Given the description of an element on the screen output the (x, y) to click on. 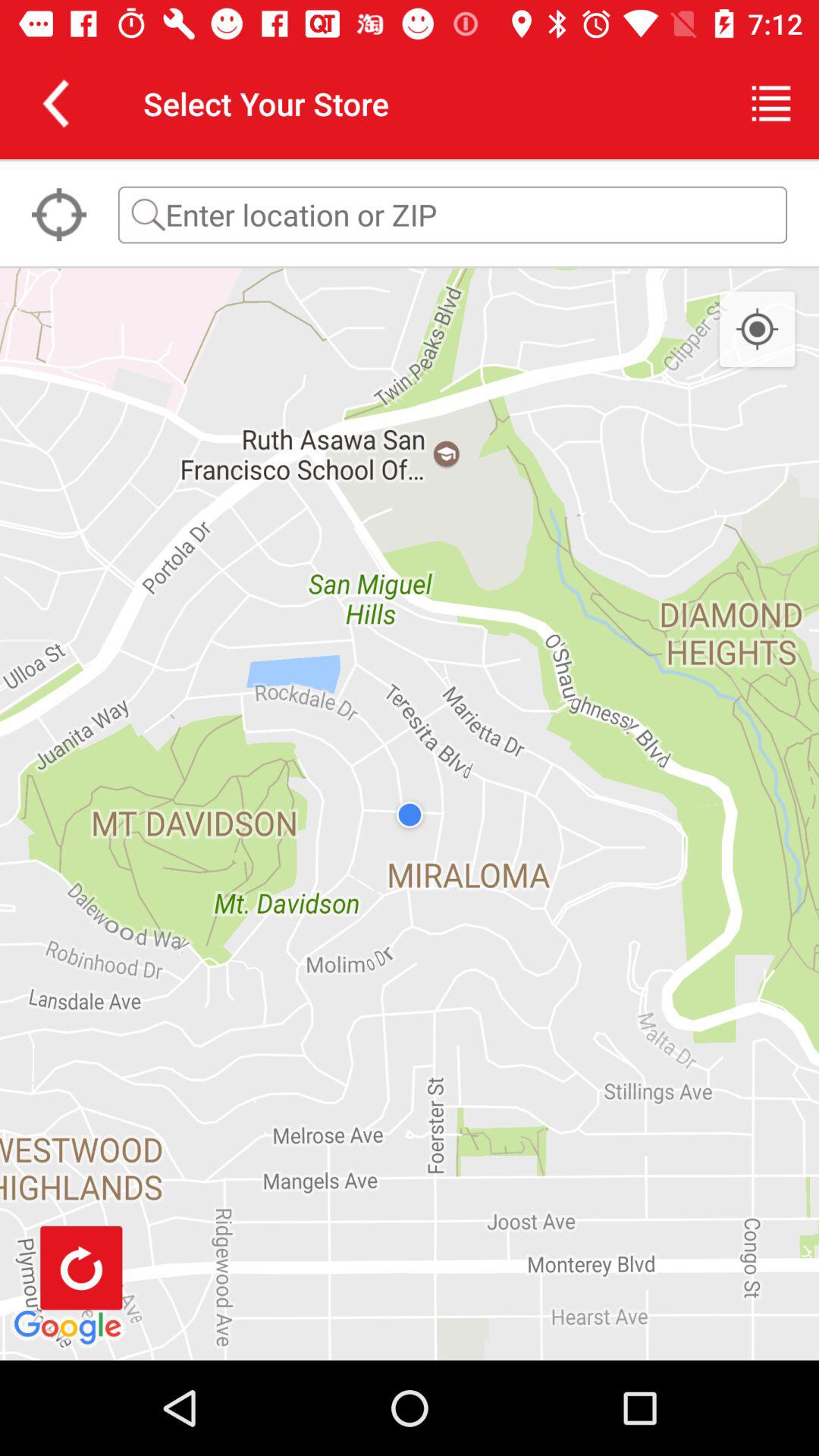
turn off item next to the select your store icon (771, 103)
